Given the description of an element on the screen output the (x, y) to click on. 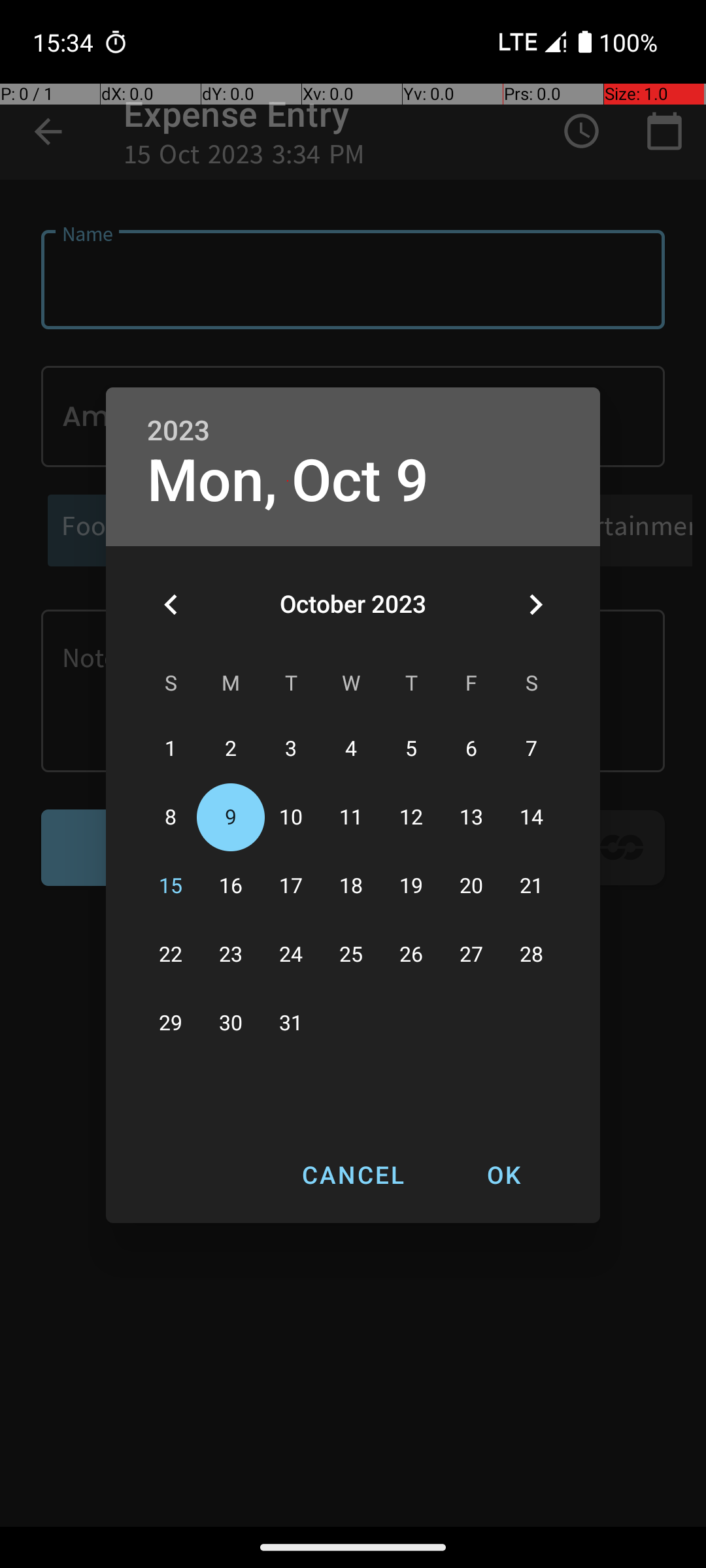
Mon, Oct 9 Element type: android.widget.TextView (287, 480)
